Given the description of an element on the screen output the (x, y) to click on. 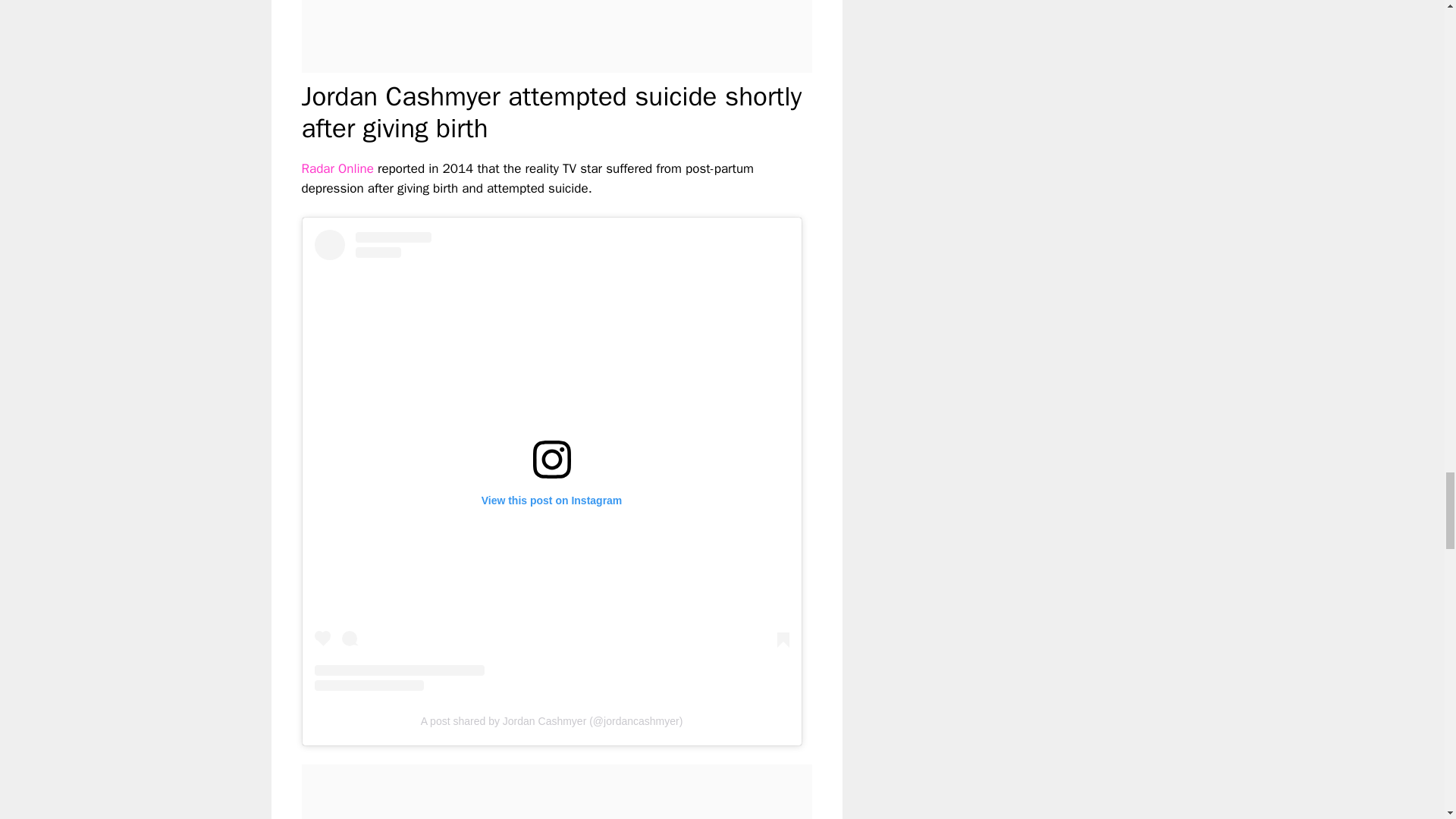
Radar Online (337, 168)
